Given the description of an element on the screen output the (x, y) to click on. 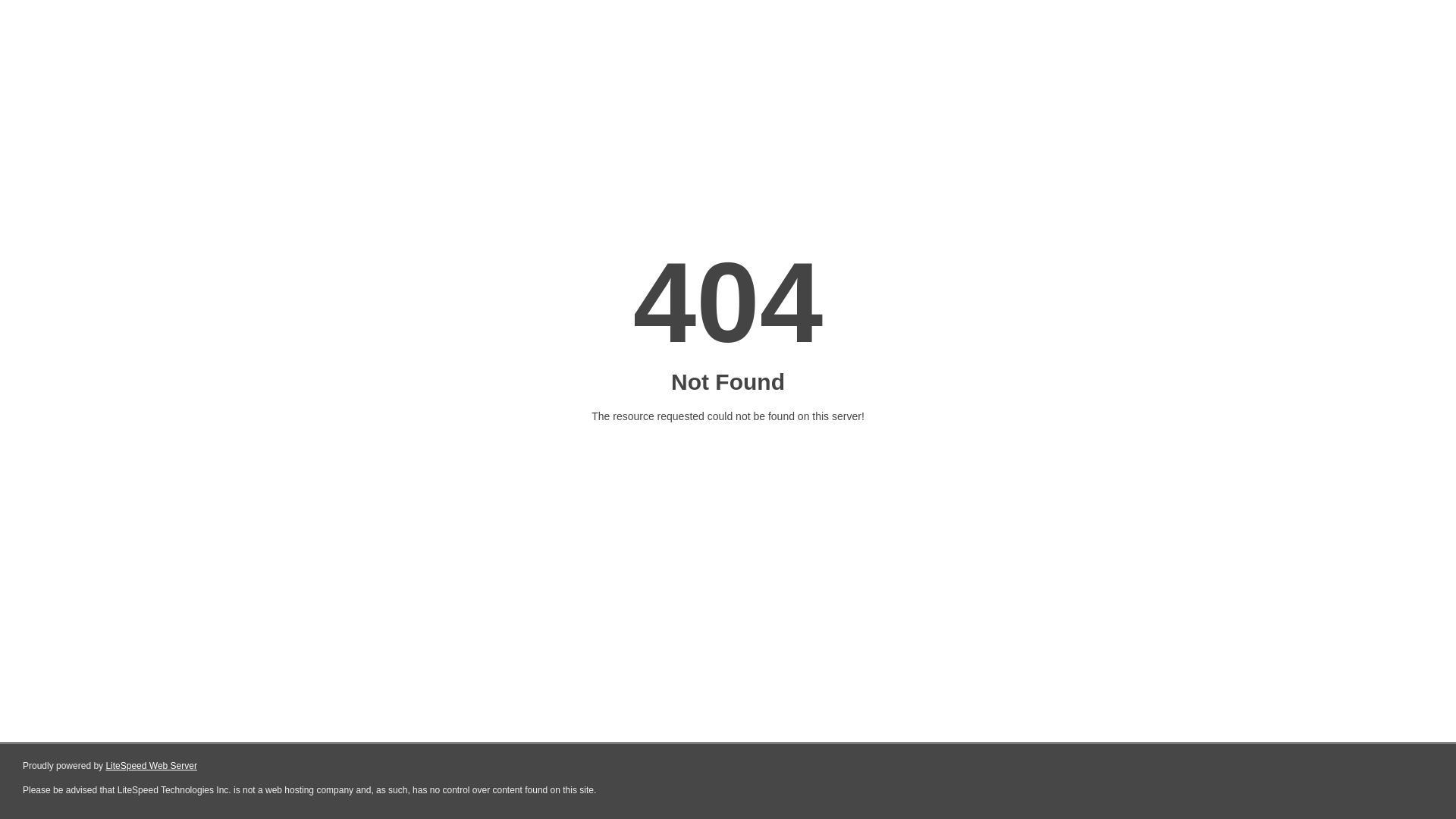
LiteSpeed Web Server Element type: text (151, 765)
